Given the description of an element on the screen output the (x, y) to click on. 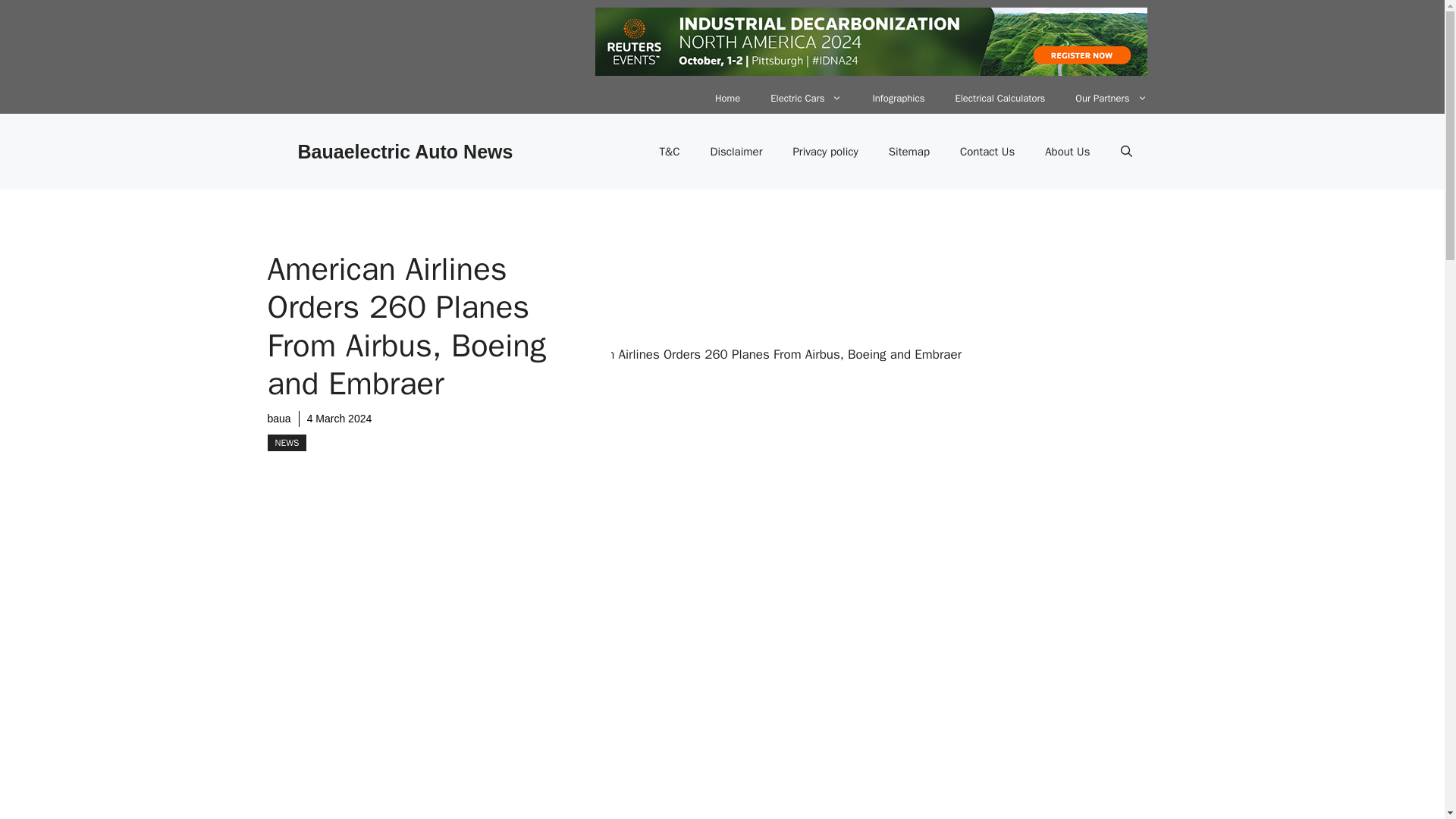
Electrical Calculators (999, 98)
Electric Cars (806, 98)
Privacy policy (824, 151)
Bauaelectric Auto News (404, 151)
Infographics (898, 98)
Sitemap (908, 151)
Home (727, 98)
Disclaimer (736, 151)
Our Partners (1110, 98)
